Given the description of an element on the screen output the (x, y) to click on. 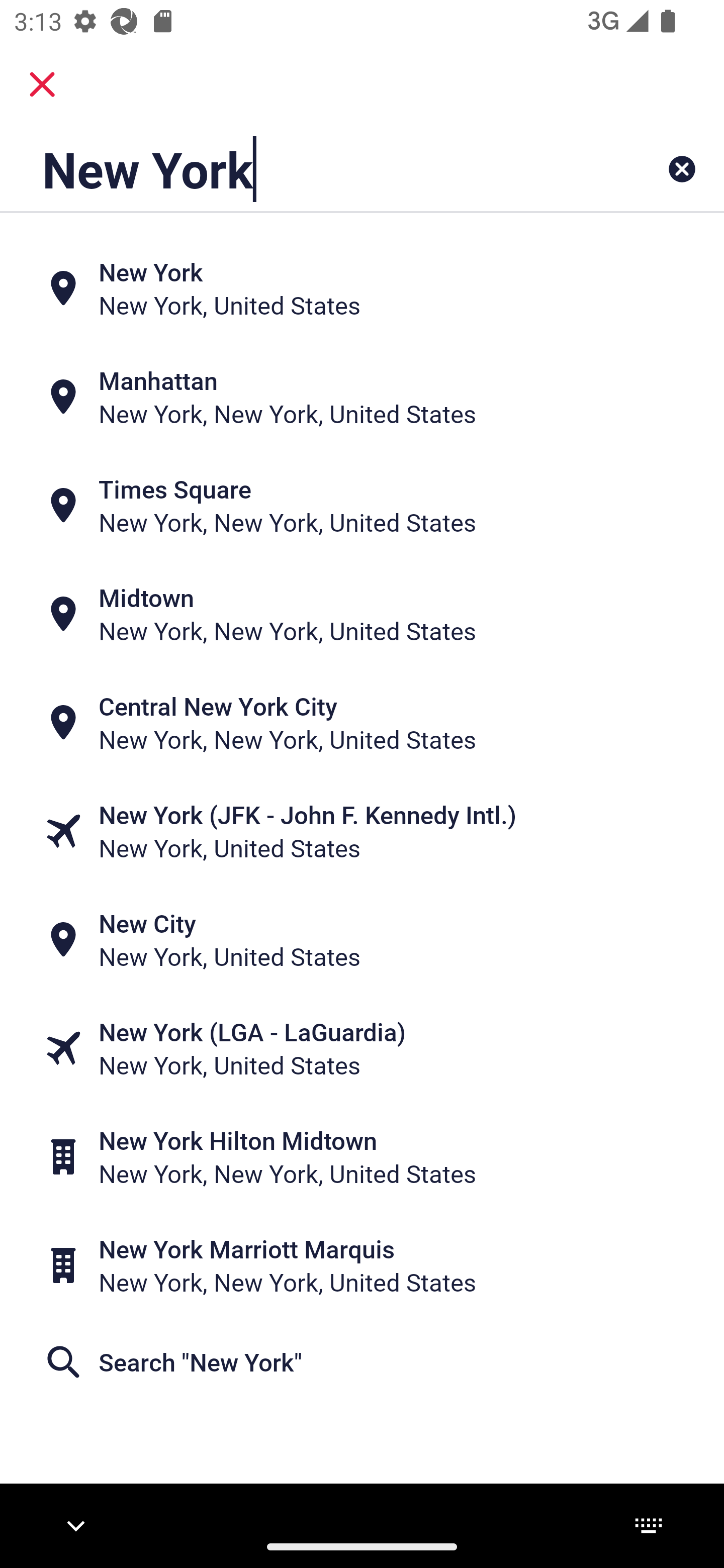
close. (42, 84)
Clear (681, 169)
New York (298, 169)
New York New York, United States (362, 288)
Manhattan New York, New York, United States (362, 397)
Times Square New York, New York, United States (362, 505)
Midtown New York, New York, United States (362, 613)
New City New York, United States (362, 939)
New York (LGA - LaGuardia) New York, United States (362, 1048)
Search "New York" (362, 1362)
